Given the description of an element on the screen output the (x, y) to click on. 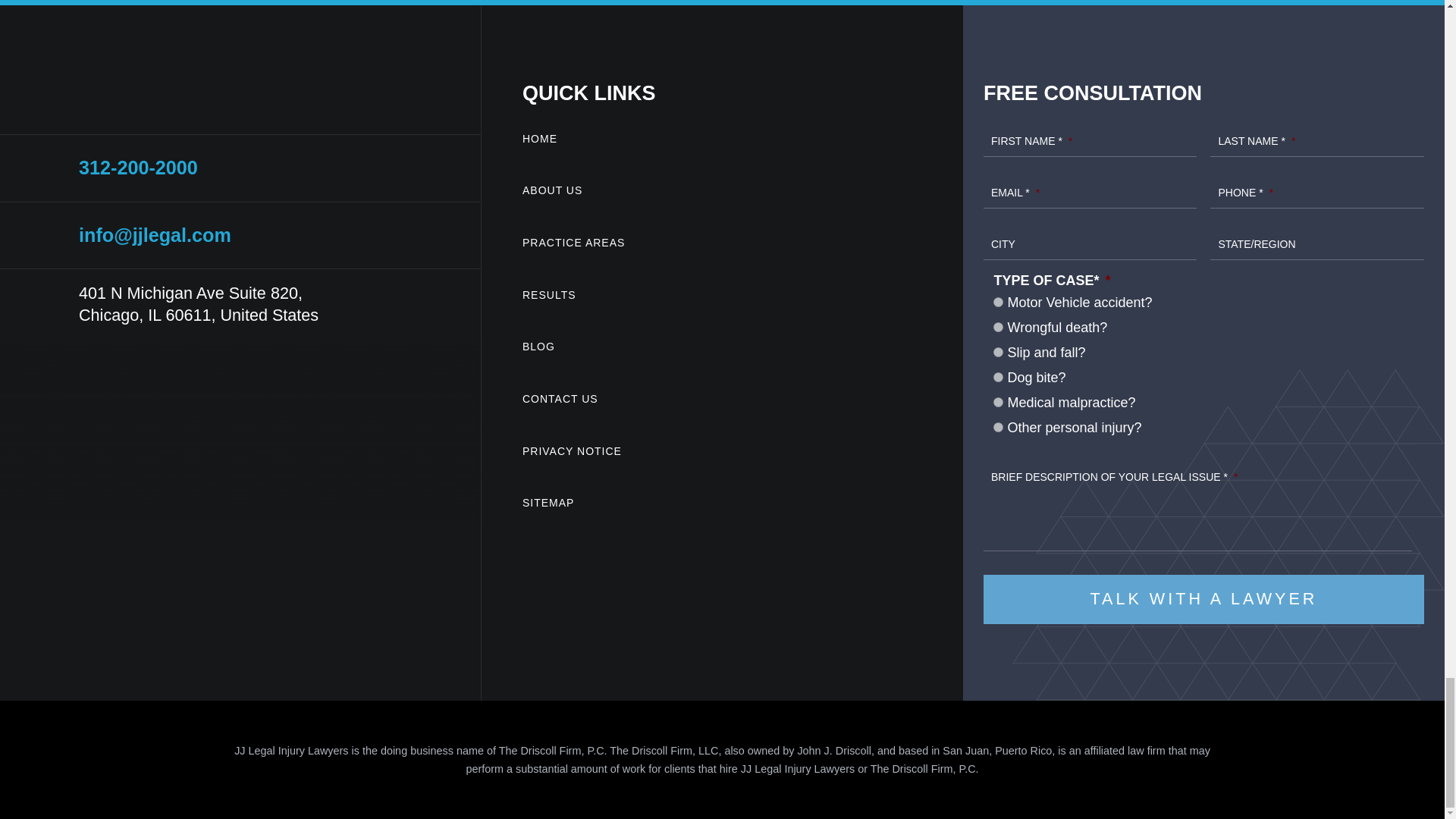
TALK WITH A LAWYER (1203, 599)
Wrongful death? (997, 327)
Slip and fall? (997, 352)
Motor Vehicle accident? (997, 302)
Medical malpractice? (997, 402)
Dog bite? (997, 377)
Other personal injury? (997, 427)
